Given the description of an element on the screen output the (x, y) to click on. 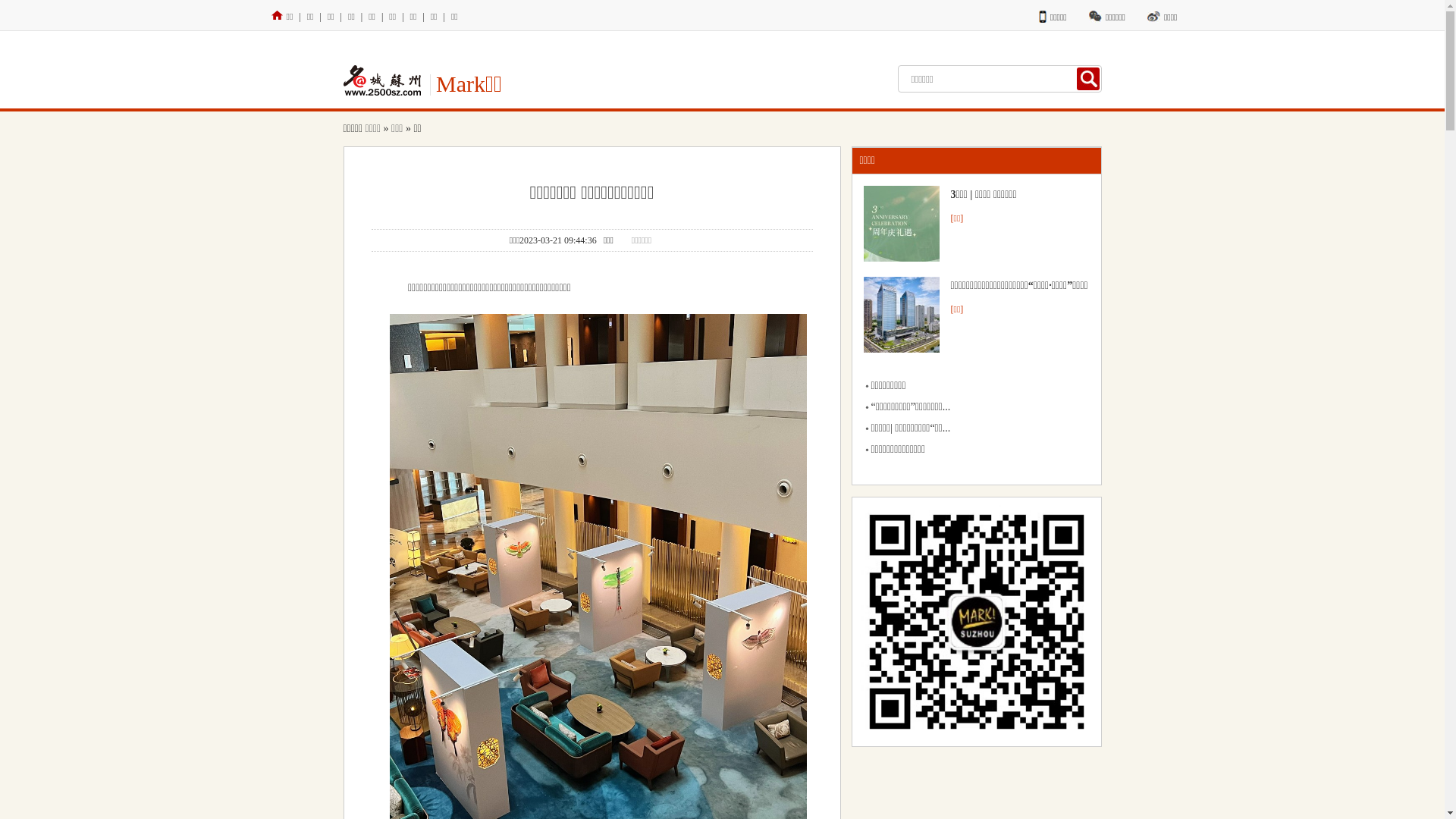
  Element type: text (1087, 78)
